Given the description of an element on the screen output the (x, y) to click on. 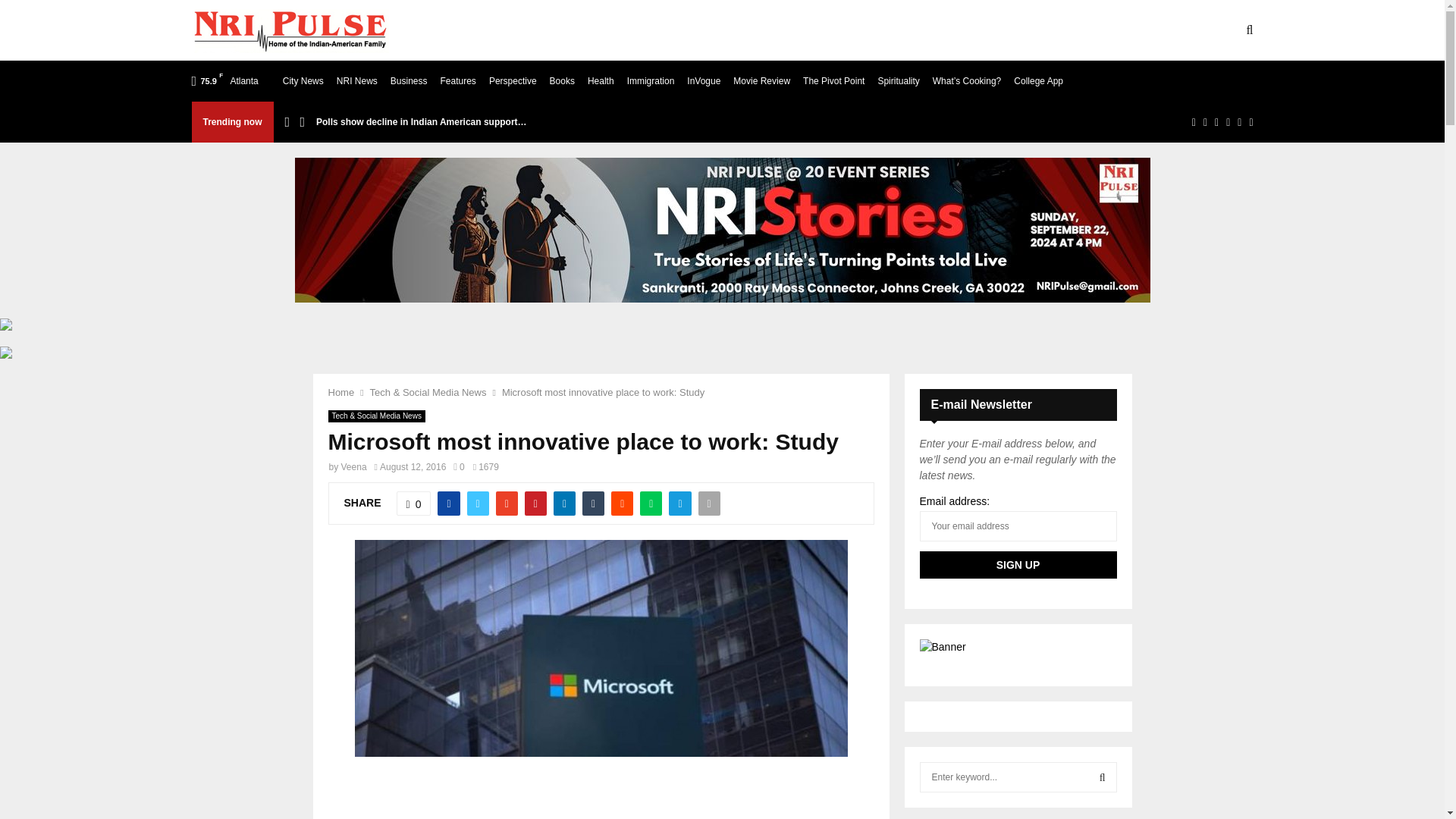
The Pivot Point (833, 80)
ADVERTISE (685, 30)
Perspective (513, 80)
Health (601, 80)
Movie Review (761, 80)
PERSPECTIVE (1063, 30)
TERMS OF USE (591, 30)
Business (409, 80)
Sign up (1017, 564)
CROWDFUNDERS 2023 (944, 30)
Immigration (651, 80)
NRI News (356, 80)
City News (302, 80)
InVogue (703, 80)
Spirituality (897, 80)
